Given the description of an element on the screen output the (x, y) to click on. 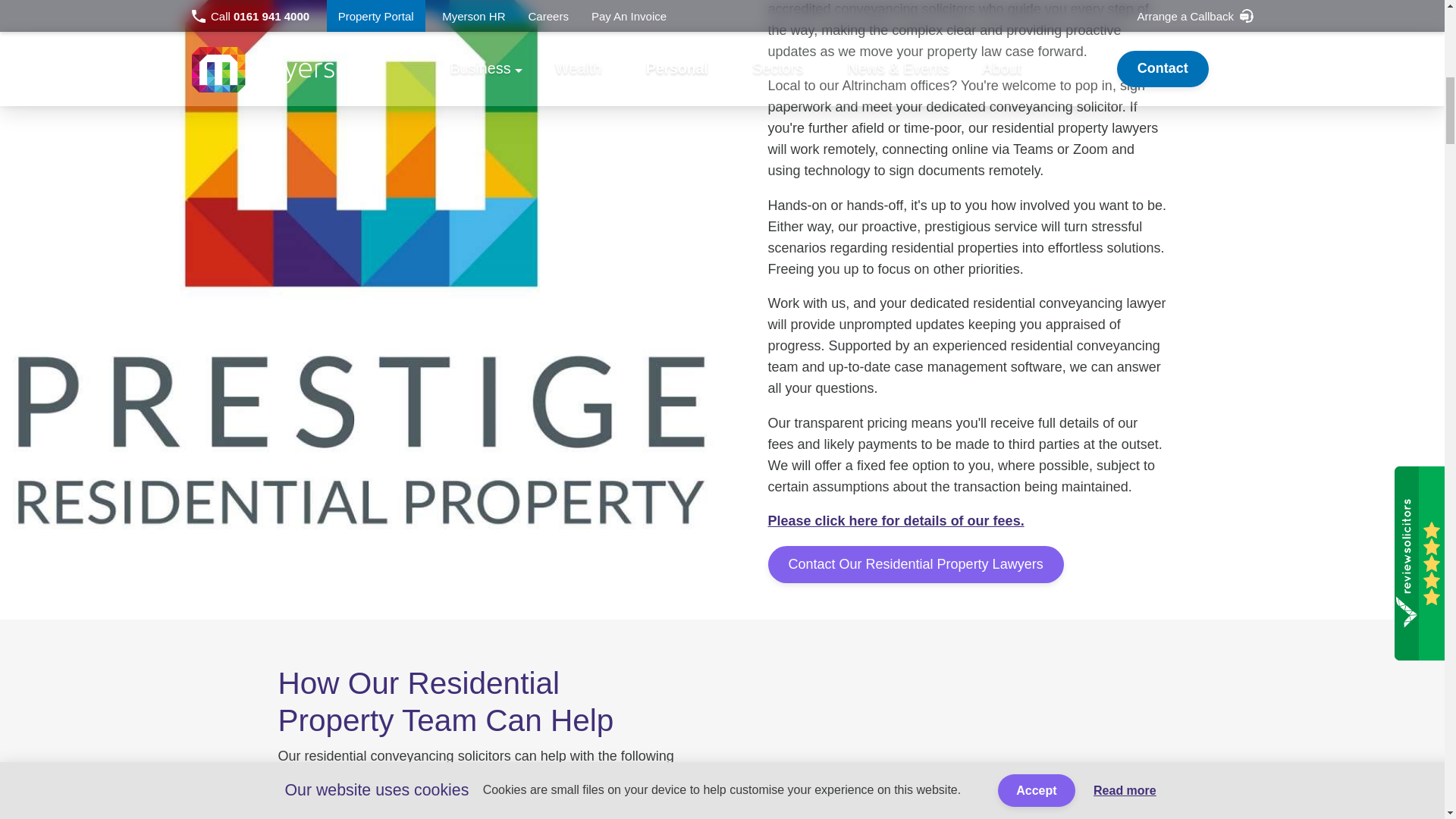
Please click here for details of our fees. (895, 520)
